Given the description of an element on the screen output the (x, y) to click on. 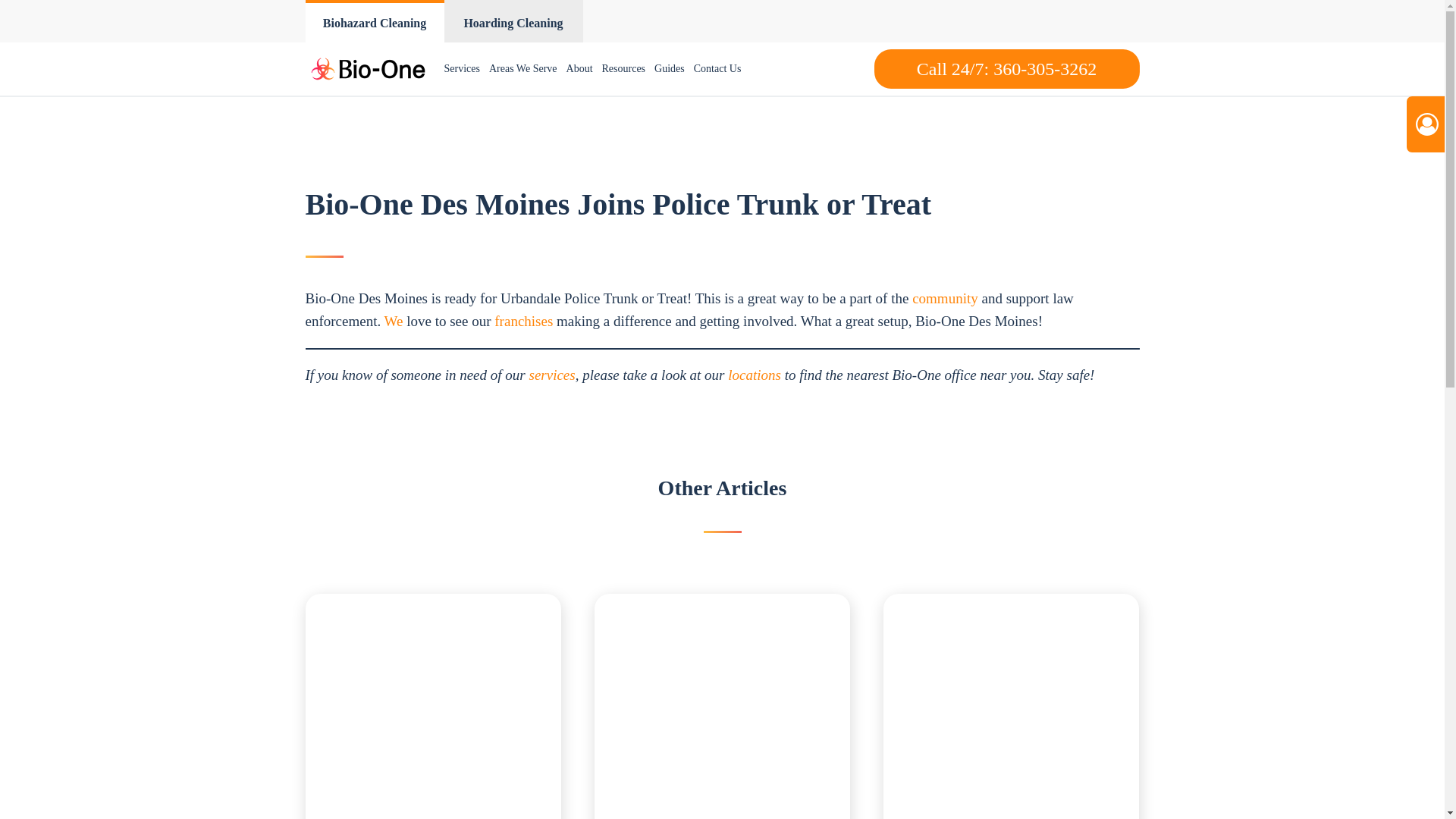
Biohazard Cleaning (374, 21)
Services (461, 68)
Hoarding Cleaning (513, 21)
Areas We Serve (523, 68)
Resources (623, 68)
Contact Us (716, 68)
